Given the description of an element on the screen output the (x, y) to click on. 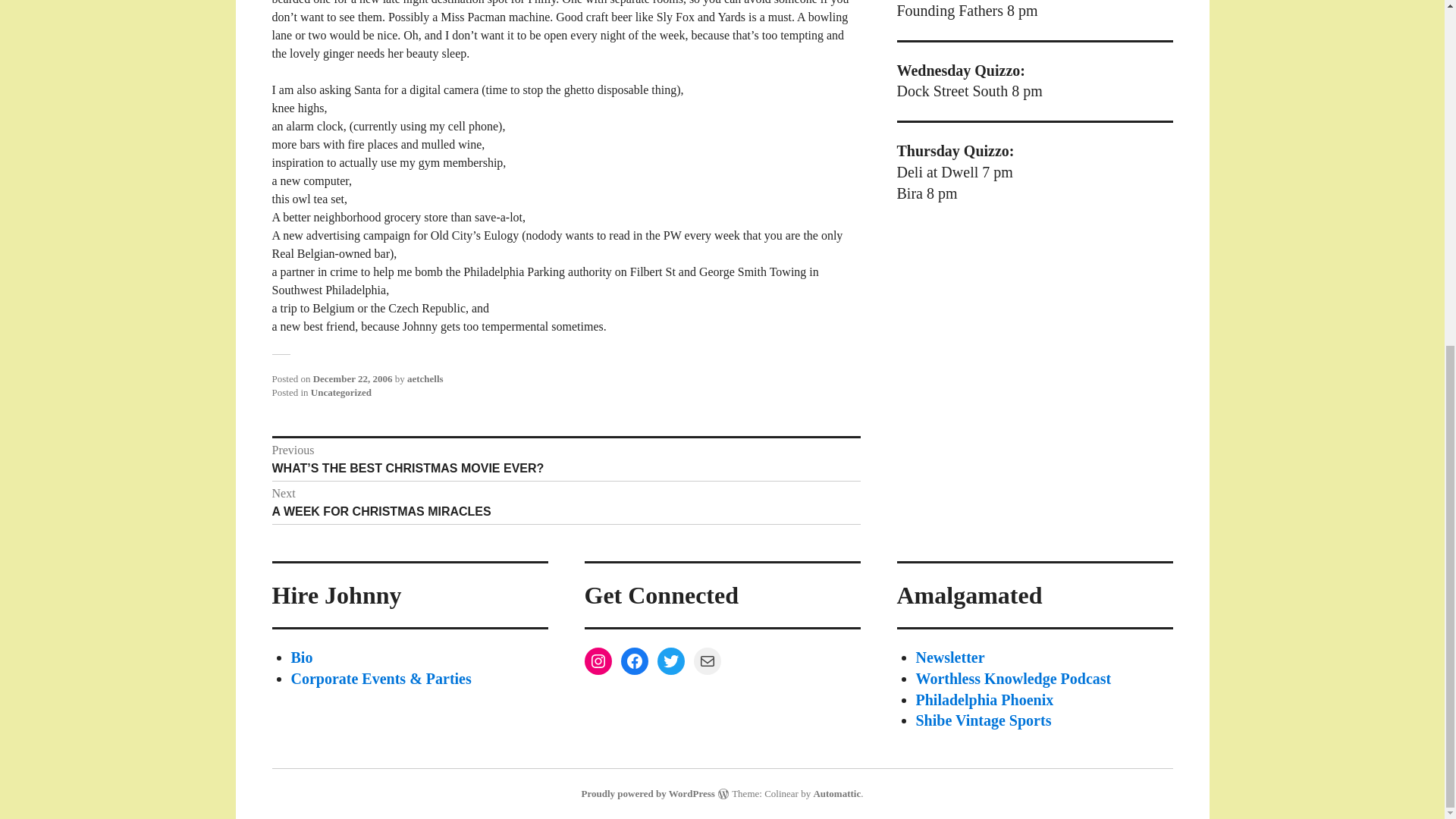
Automattic (836, 793)
Shibe Vintage Sports (983, 719)
Worthless Knowledge Podcast (1013, 678)
December 22, 2006 (565, 502)
Facebook (353, 378)
Philadelphia Phoenix (633, 660)
Bio (984, 699)
Twitter (302, 657)
Instagram (670, 660)
